Given the description of an element on the screen output the (x, y) to click on. 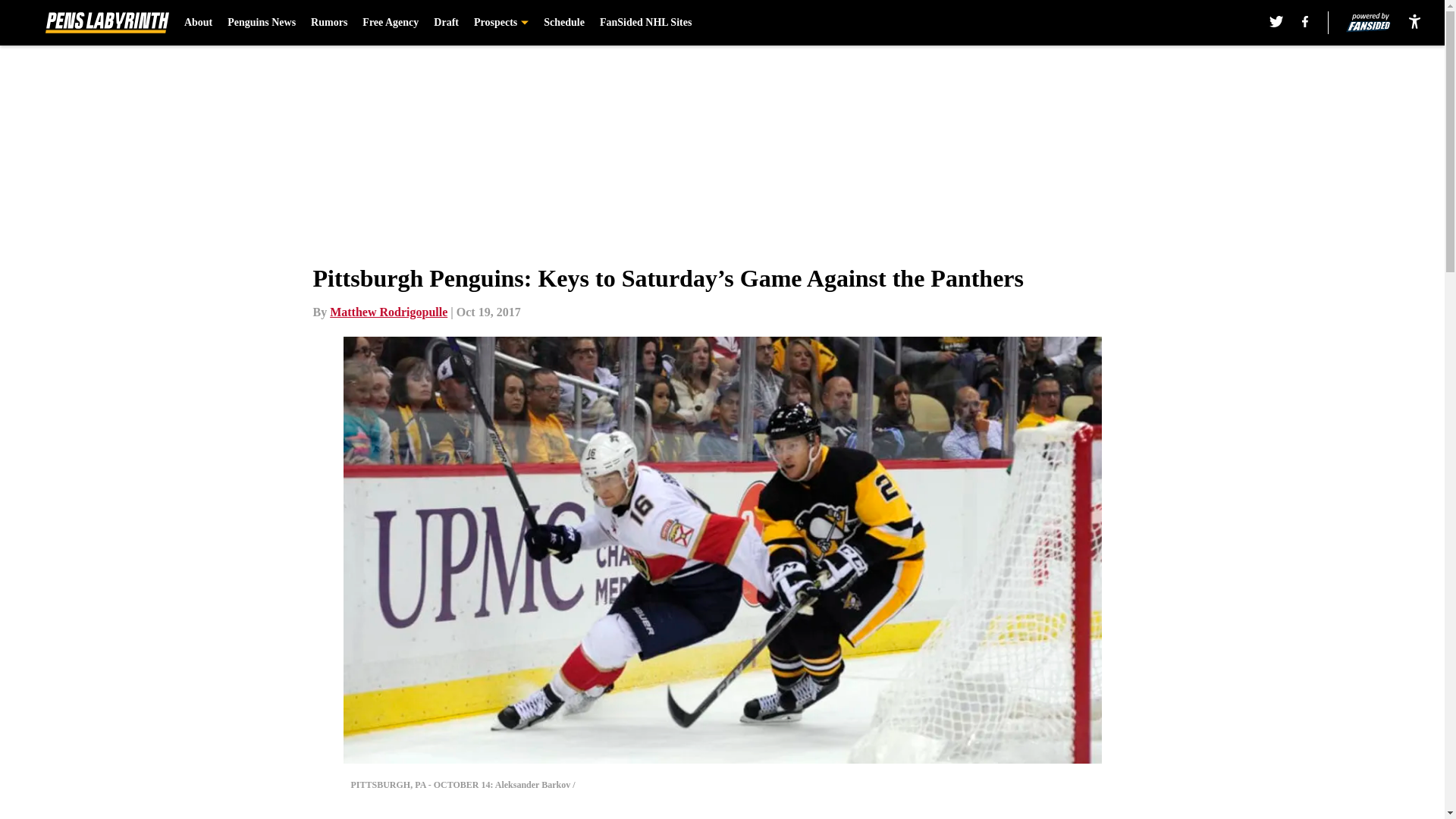
Penguins News (261, 22)
Schedule (564, 22)
Rumors (329, 22)
FanSided NHL Sites (645, 22)
About (198, 22)
Matthew Rodrigopulle (388, 311)
Free Agency (390, 22)
Draft (445, 22)
